Given the description of an element on the screen output the (x, y) to click on. 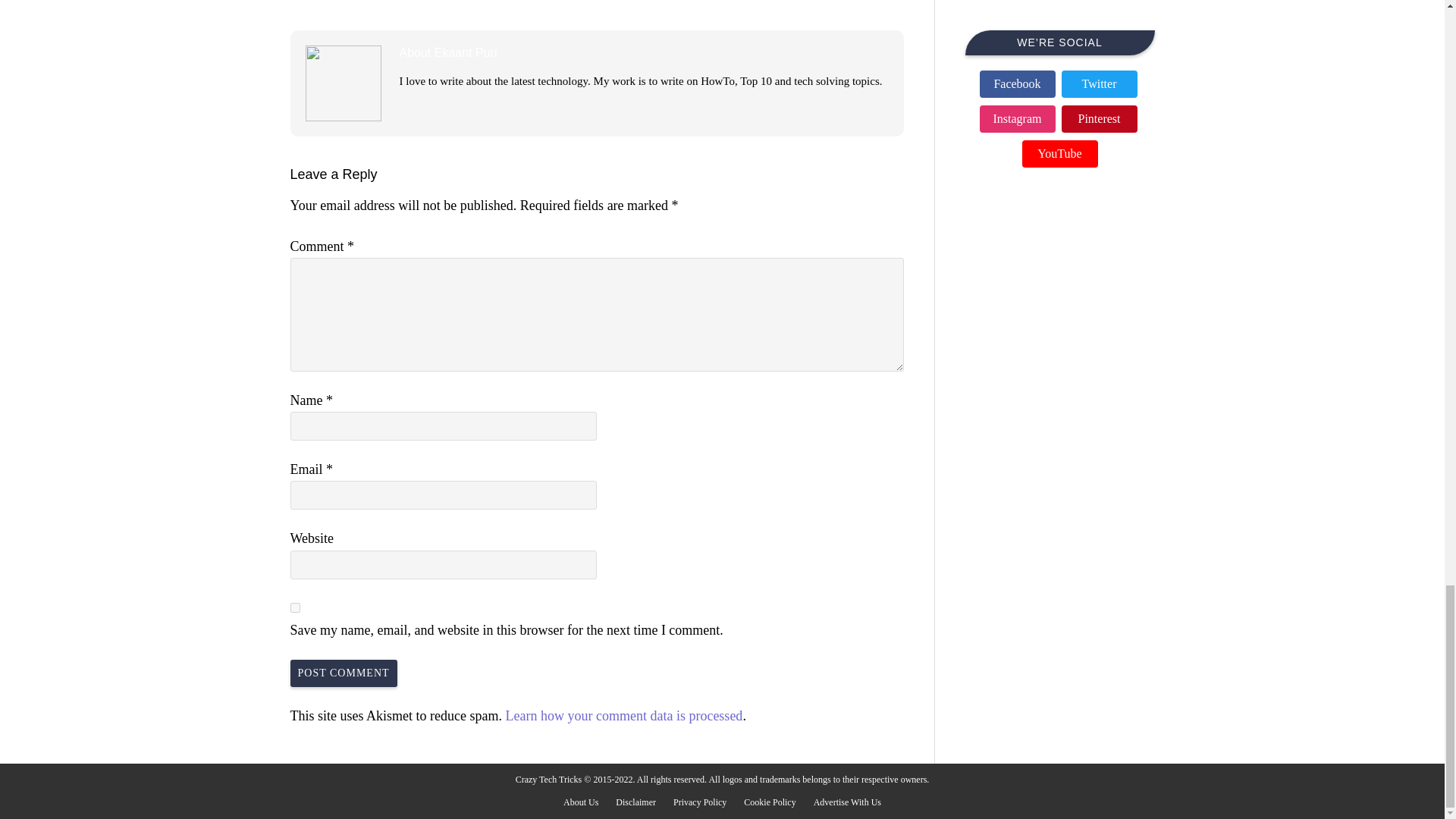
Post Comment (342, 673)
Advertise With Us (846, 802)
About Us (580, 802)
Disclaimer (635, 802)
Privacy Policy (699, 802)
yes (294, 607)
Learn how your comment data is processed (623, 715)
Cookie Policy (769, 802)
Post Comment (342, 673)
